Given the description of an element on the screen output the (x, y) to click on. 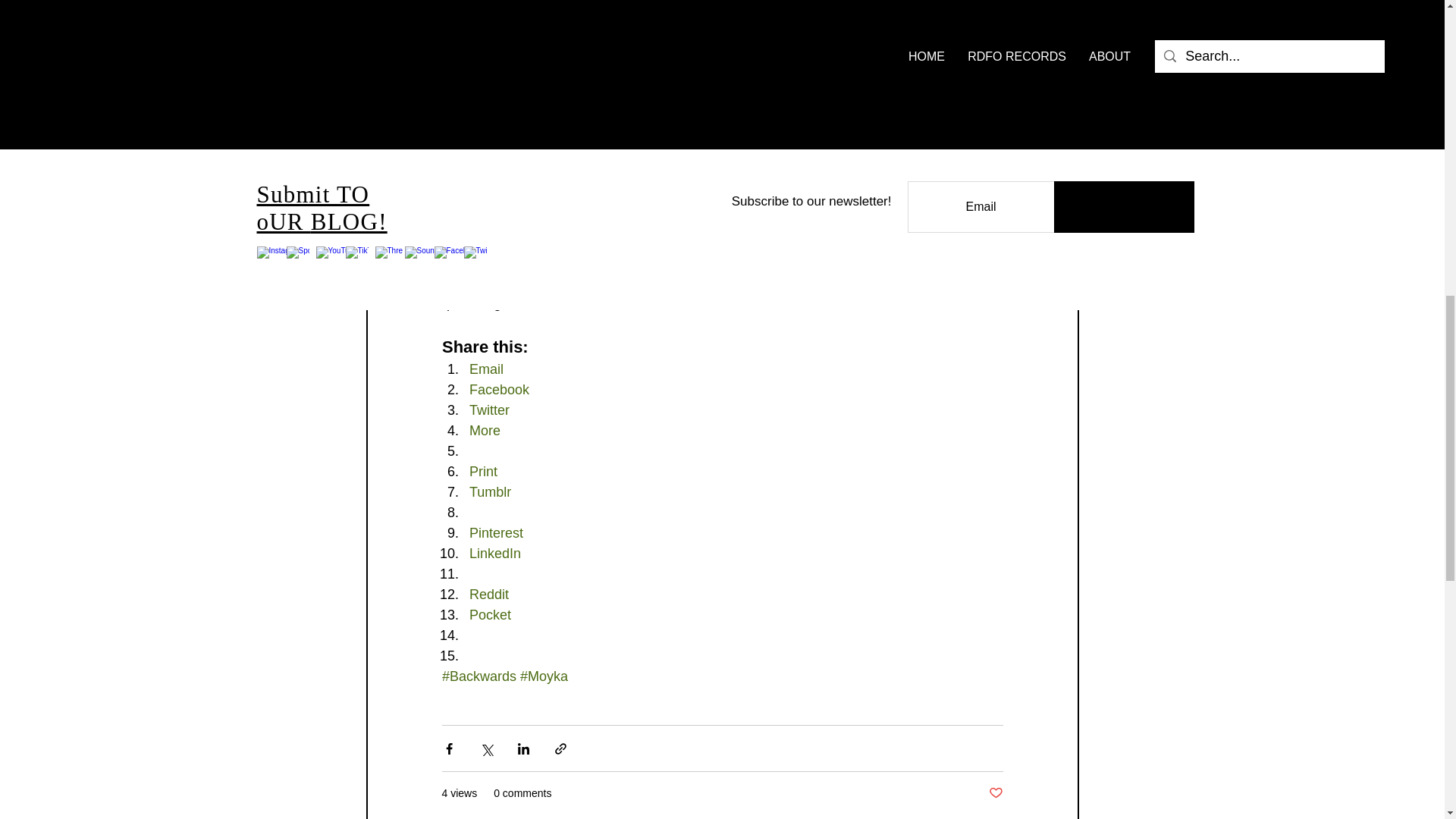
Pinterest (495, 532)
Facebook (498, 389)
Tumblr (489, 491)
Backwards (481, 221)
LinkedIn (493, 553)
Email (485, 368)
More (483, 430)
Reddit (488, 594)
Post not marked as liked (995, 793)
Pocket (489, 614)
Twitter (488, 409)
Print (482, 471)
